Given the description of an element on the screen output the (x, y) to click on. 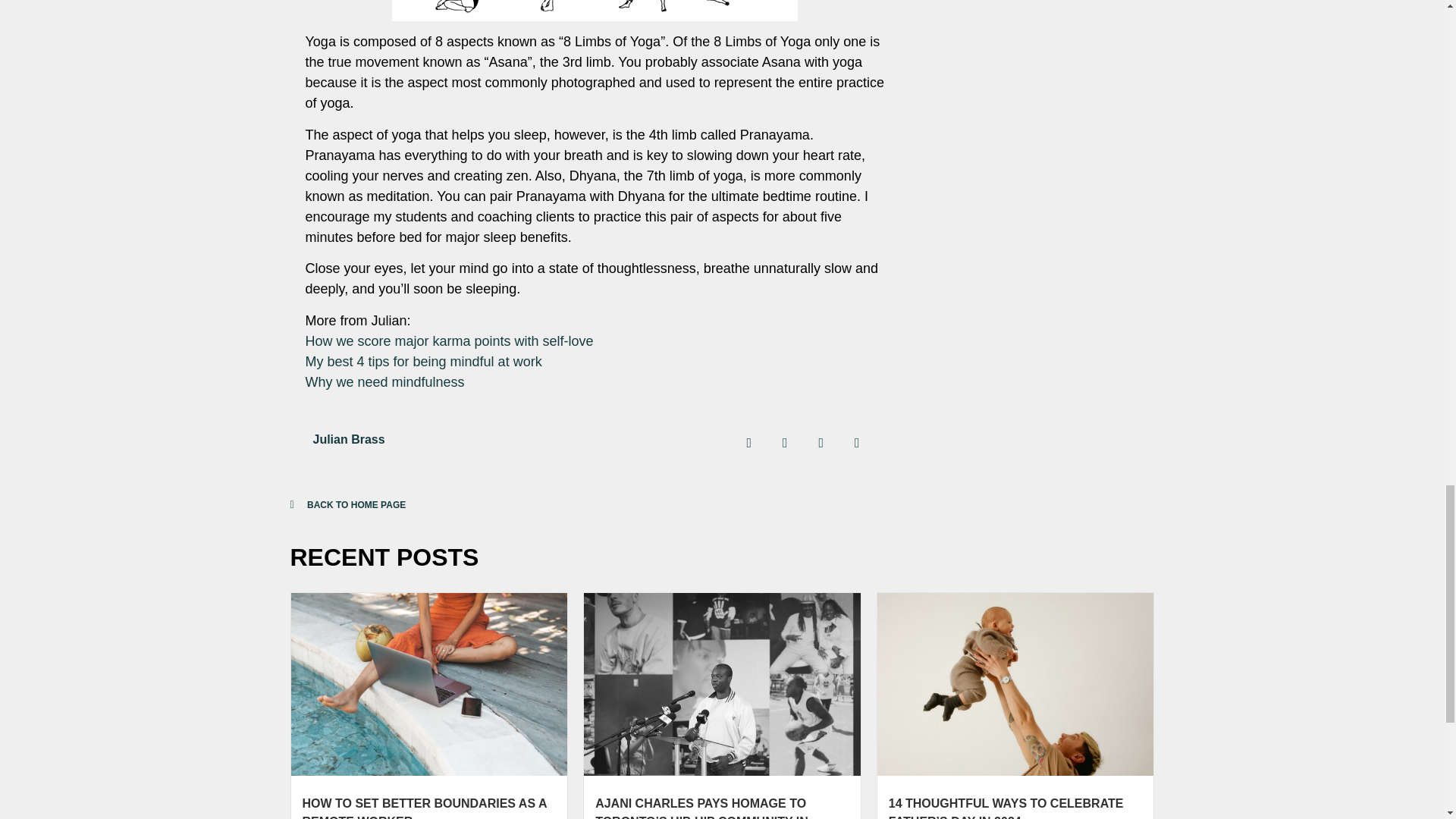
How to Set Better Boundaries as a Remote Worker (423, 807)
